Given the description of an element on the screen output the (x, y) to click on. 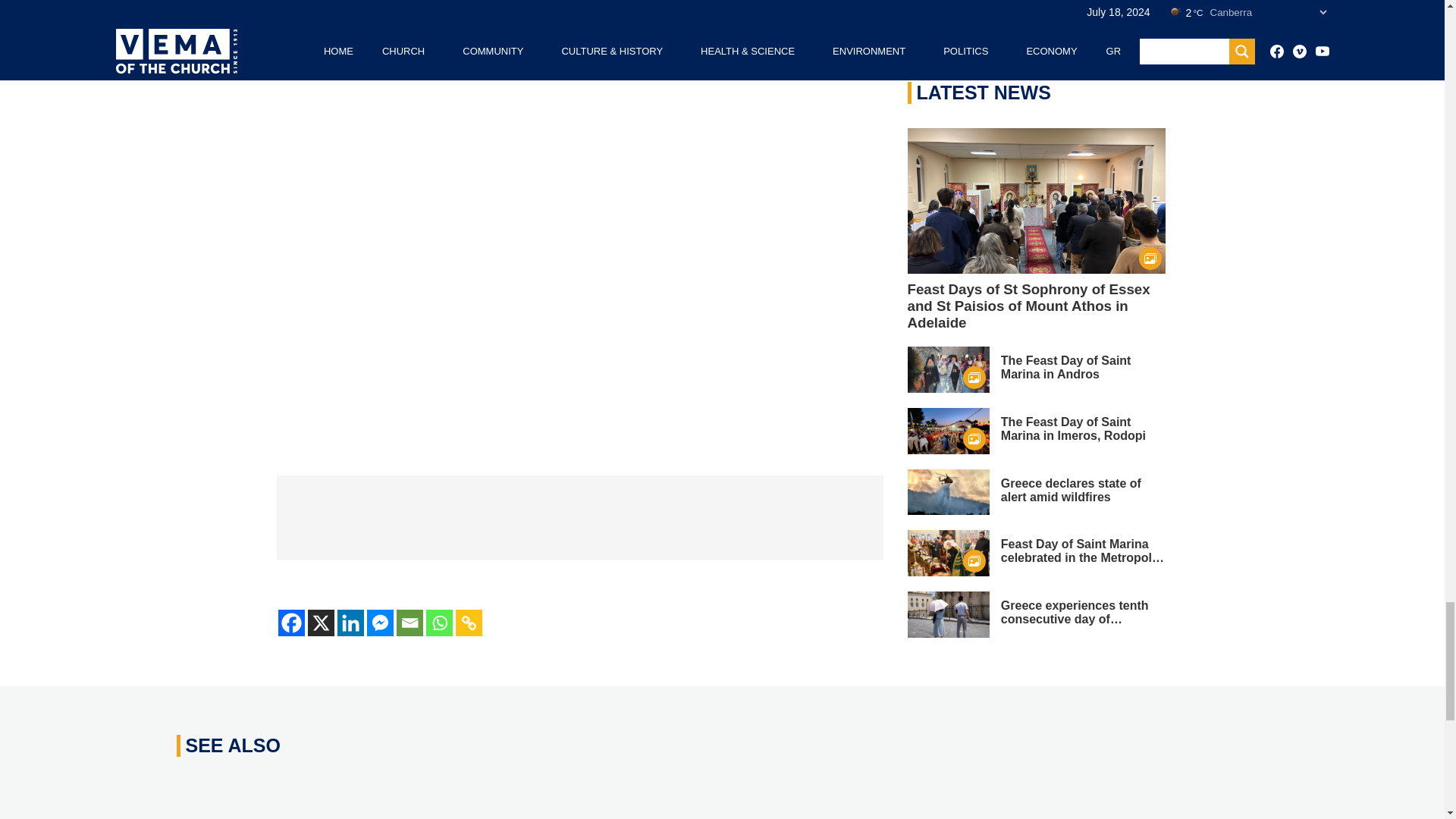
Linkedin (349, 622)
Copy Link (467, 622)
Email (409, 622)
X (320, 622)
Facebook (291, 622)
Whatsapp (439, 622)
ST Spyridon (579, 517)
